Given the description of an element on the screen output the (x, y) to click on. 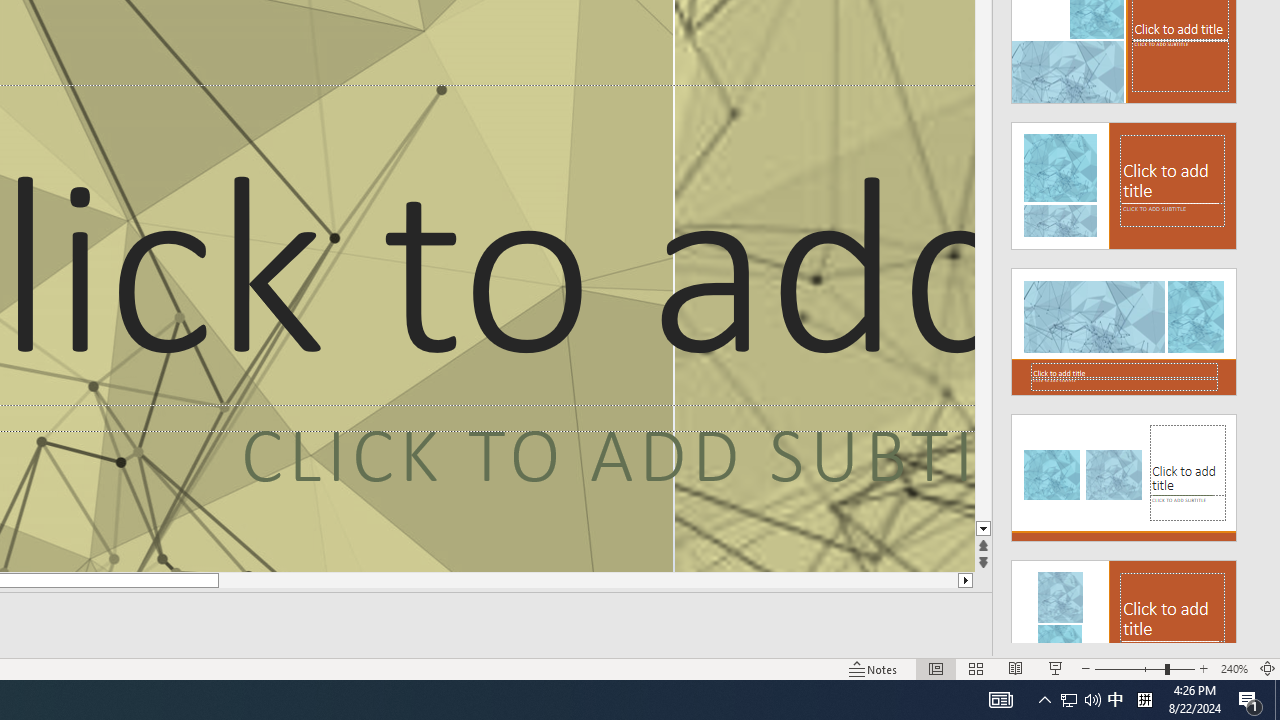
Zoom 240% (1234, 668)
Design Idea (1124, 618)
